Given the description of an element on the screen output the (x, y) to click on. 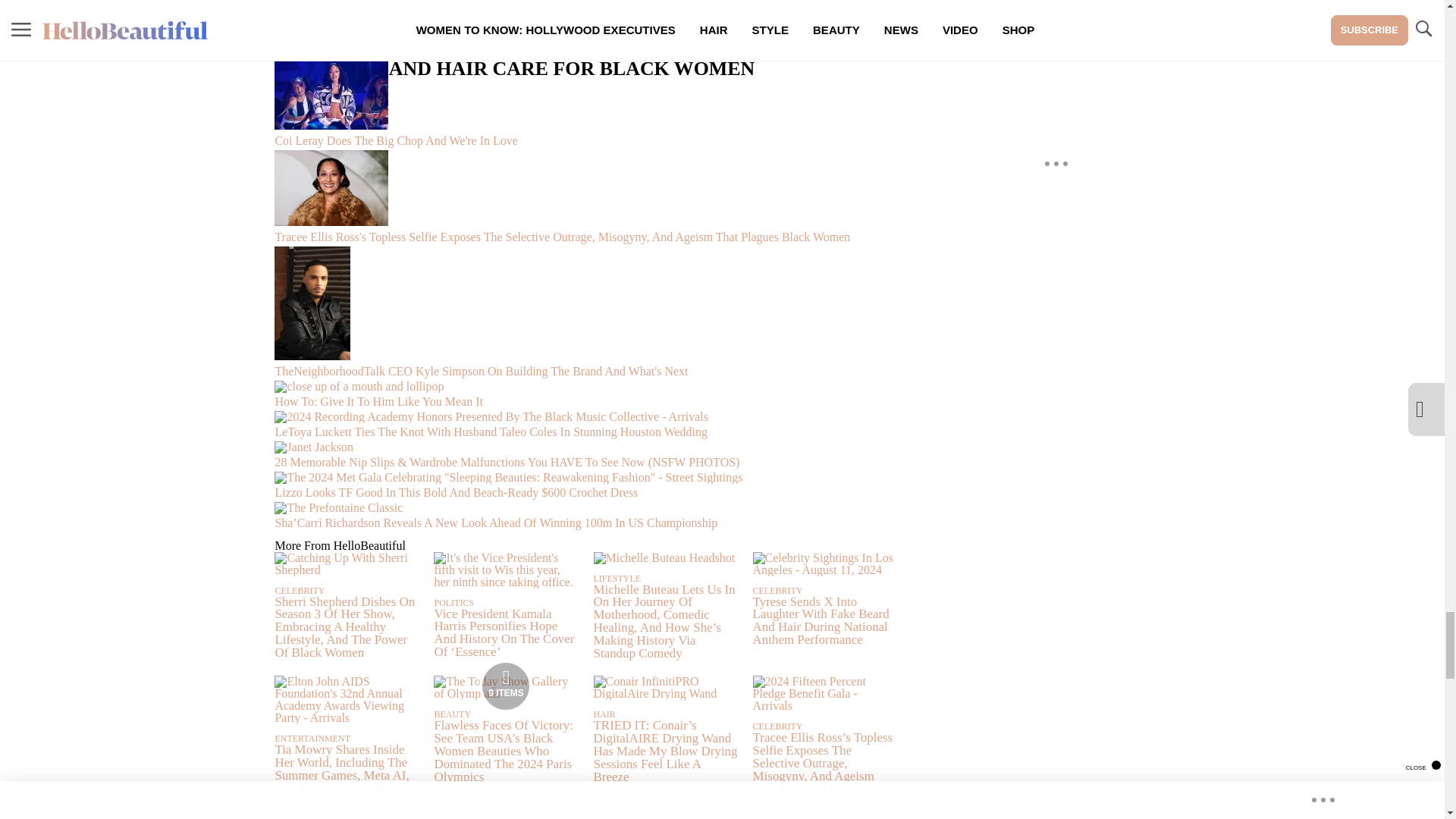
How To: Give It To Him Like You Mean It (585, 395)
Coi Leray Does The Big Chop And We're In Love (585, 103)
Media Playlist (505, 686)
